Given the description of an element on the screen output the (x, y) to click on. 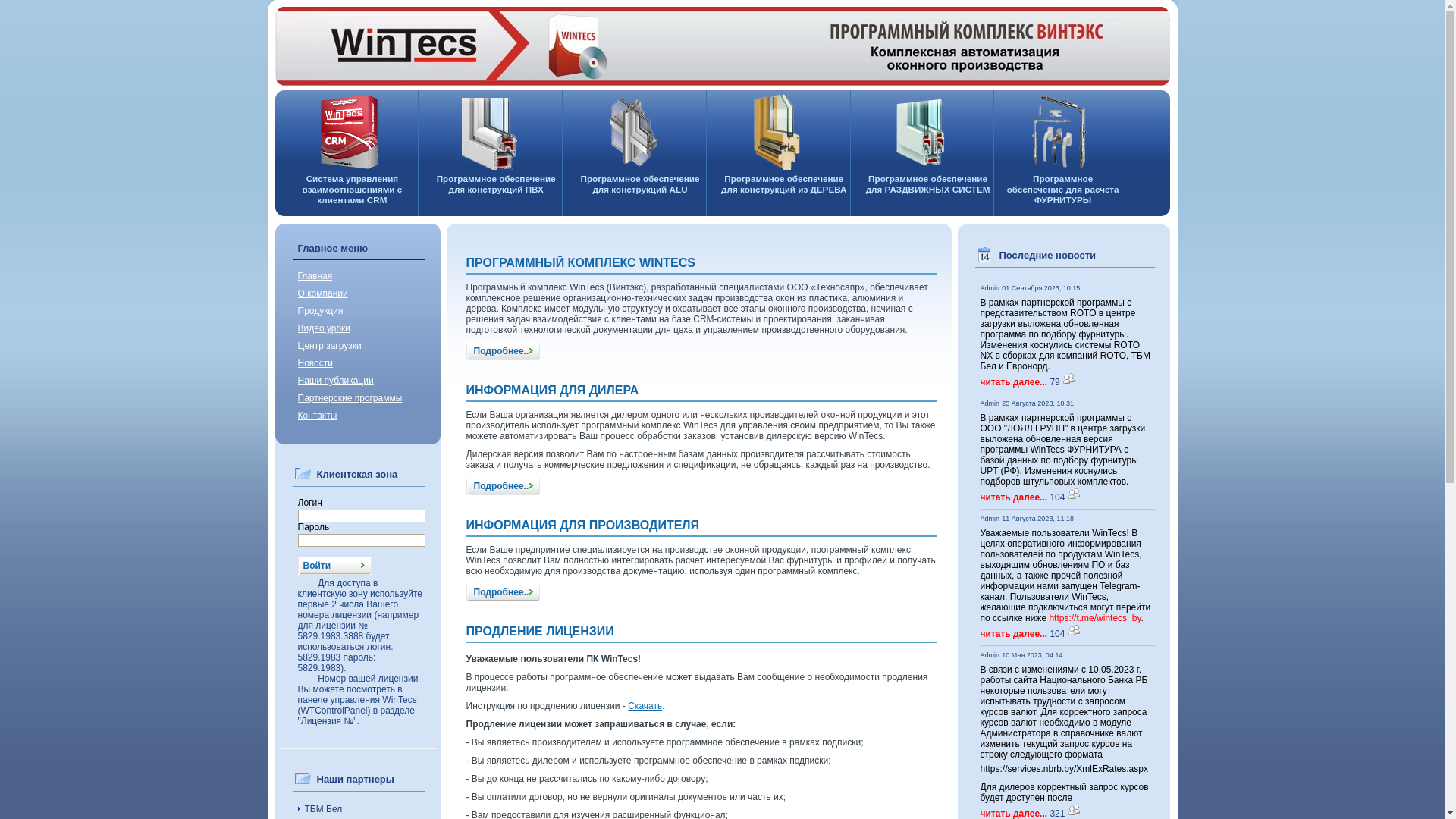
https://t.me/wintecs_by Element type: text (1094, 617)
